Given the description of an element on the screen output the (x, y) to click on. 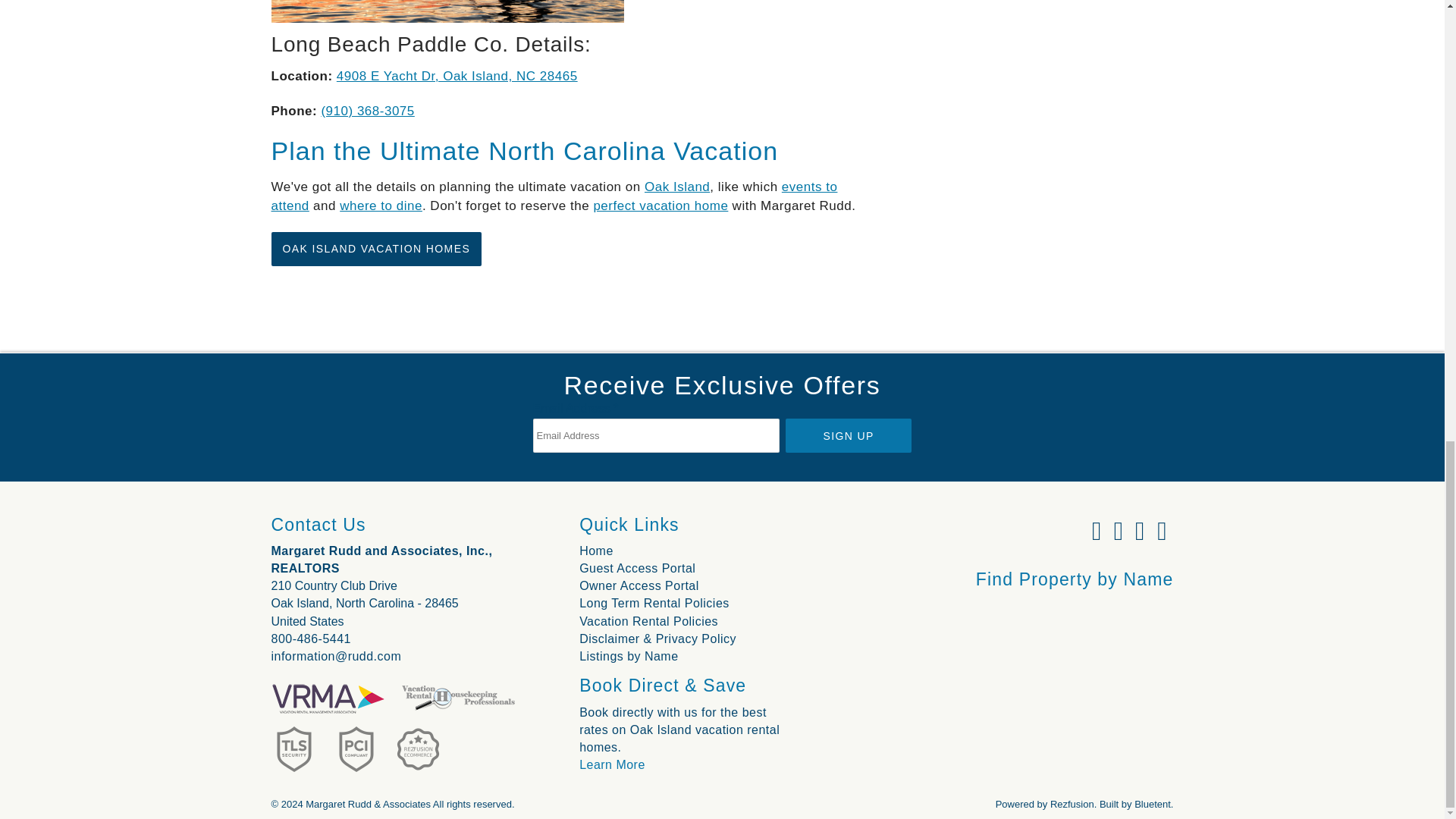
Long Beach Paddle Co. (447, 11)
